Given the description of an element on the screen output the (x, y) to click on. 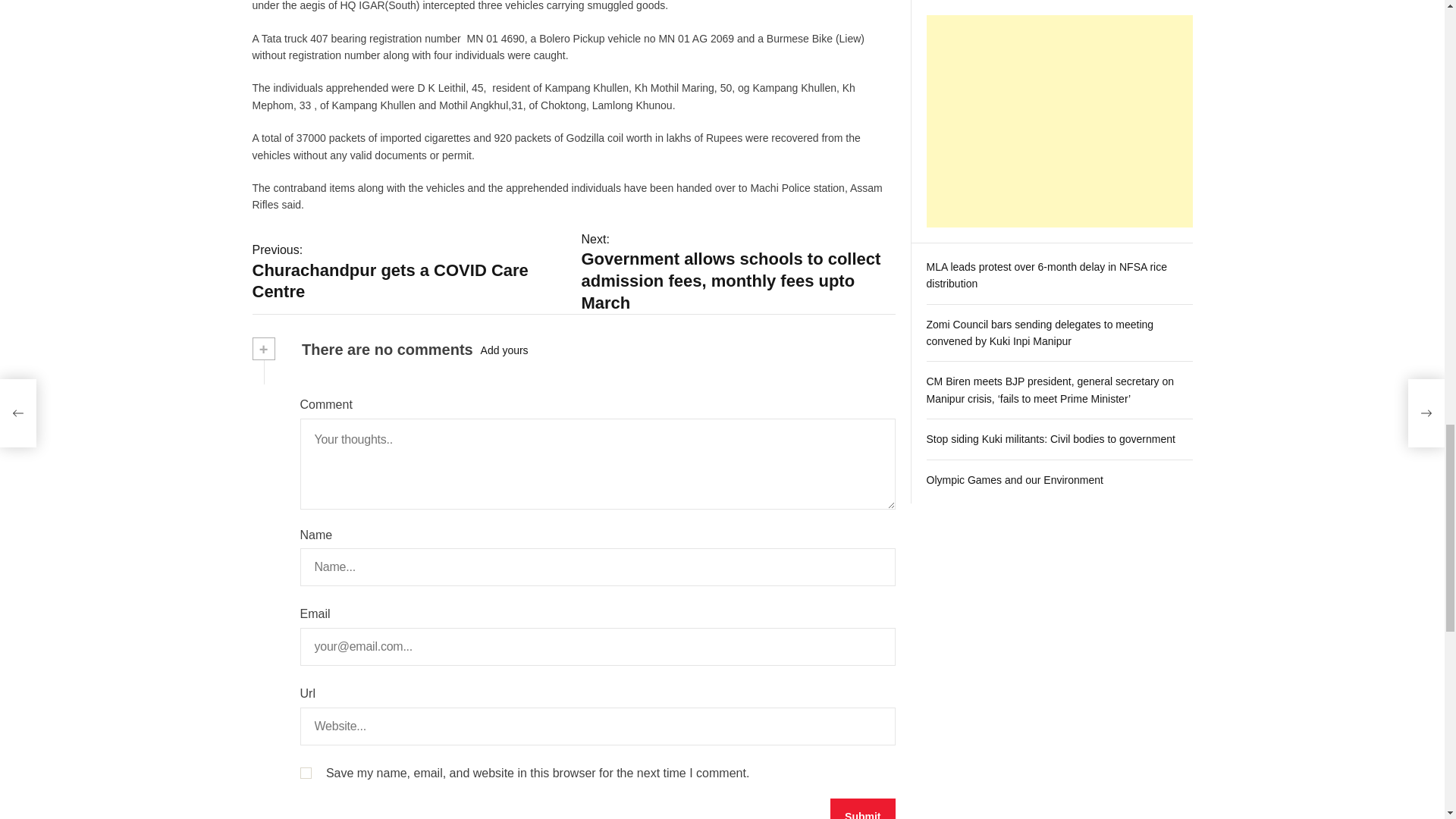
Submit (862, 808)
yes (305, 772)
Submit (862, 808)
Add yours (504, 350)
